Given the description of an element on the screen output the (x, y) to click on. 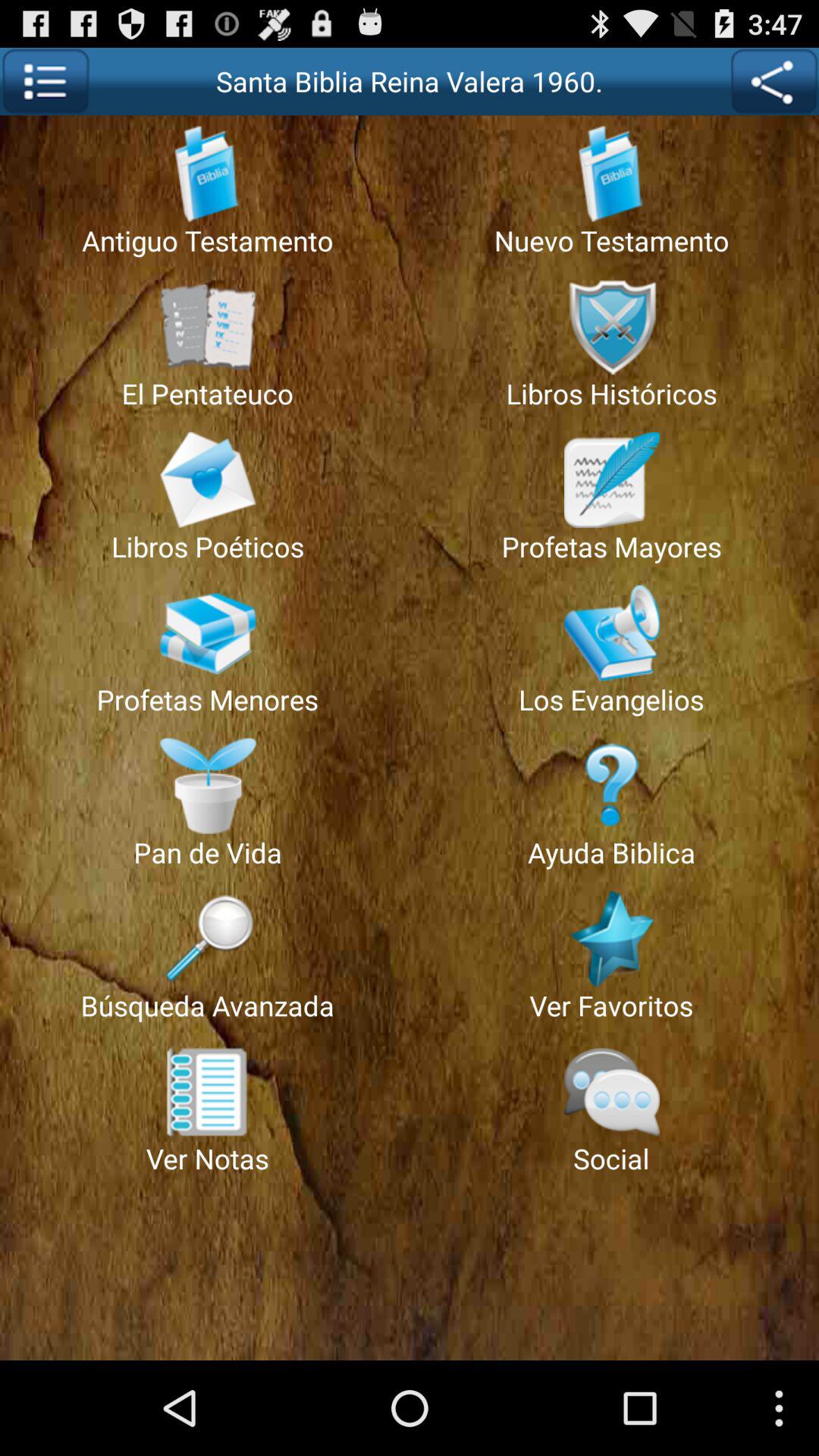
open the app to the left of the santa biblia reina app (45, 81)
